Given the description of an element on the screen output the (x, y) to click on. 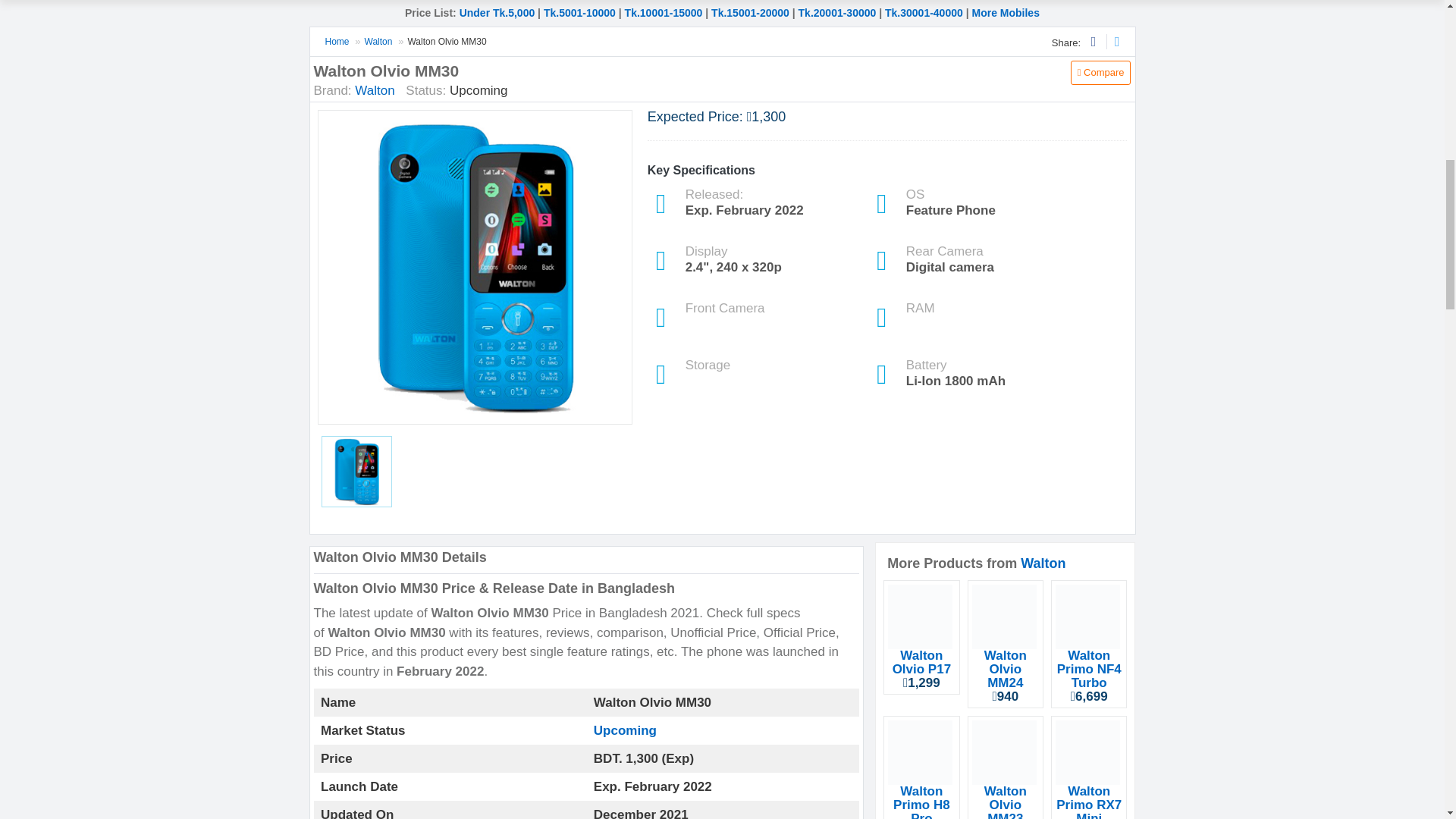
Walton (379, 41)
Upcoming (625, 730)
Walton (1042, 563)
More Mobiles (1005, 12)
Walton Primo NF4 Turbo (1089, 669)
Tk.10001-15000 (663, 12)
Tk.30001-40000 (923, 12)
Under Tk.5,000 (497, 12)
Walton Olvio P17 (921, 662)
Home (336, 41)
Tk.20001-30000 (836, 12)
Walton Olvio MM24 (1005, 669)
Walton (374, 90)
Tk.5001-10000 (579, 12)
Tk.15001-20000 (750, 12)
